Given the description of an element on the screen output the (x, y) to click on. 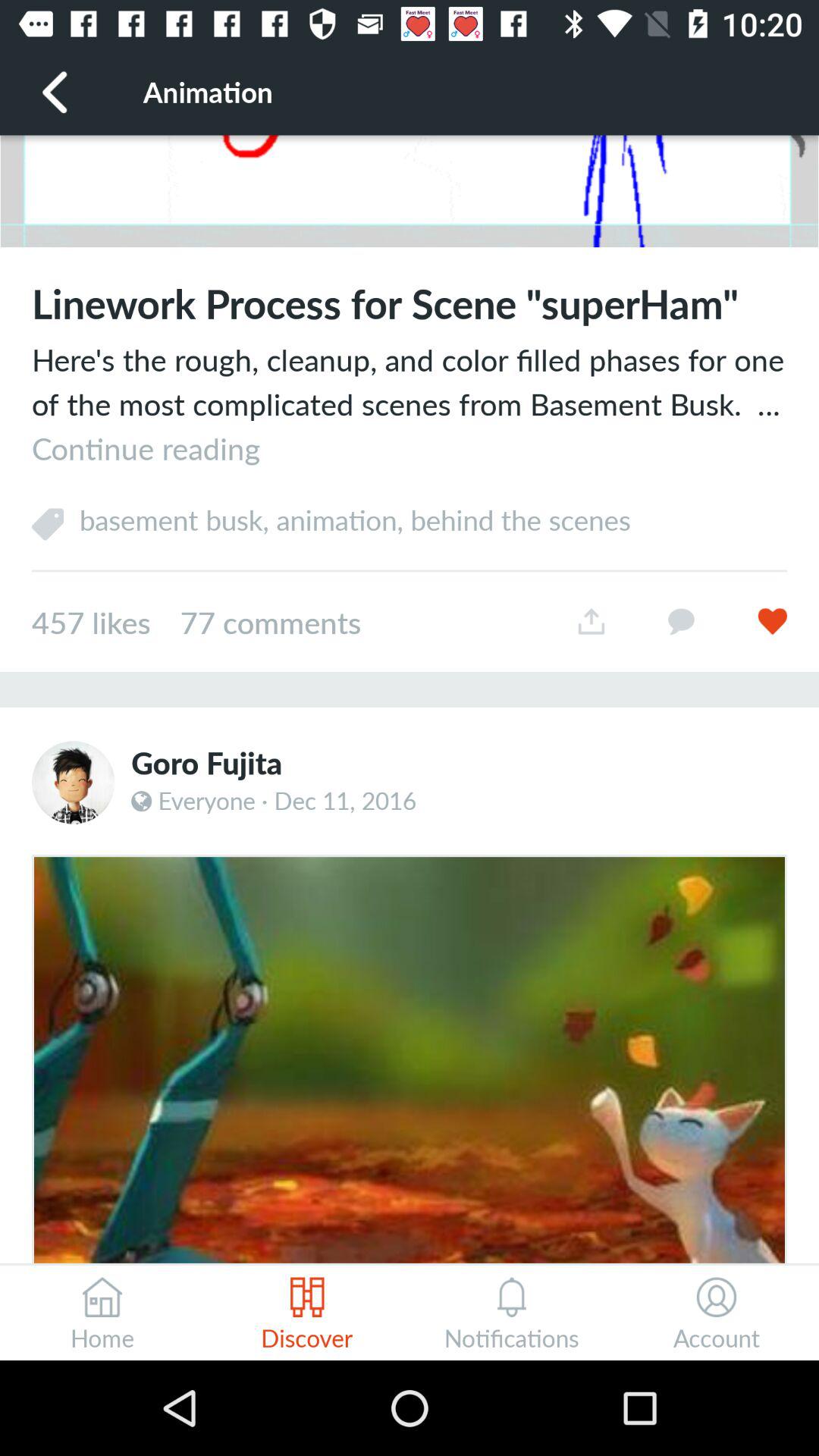
click the icon above the linework process for icon (409, 191)
